Given the description of an element on the screen output the (x, y) to click on. 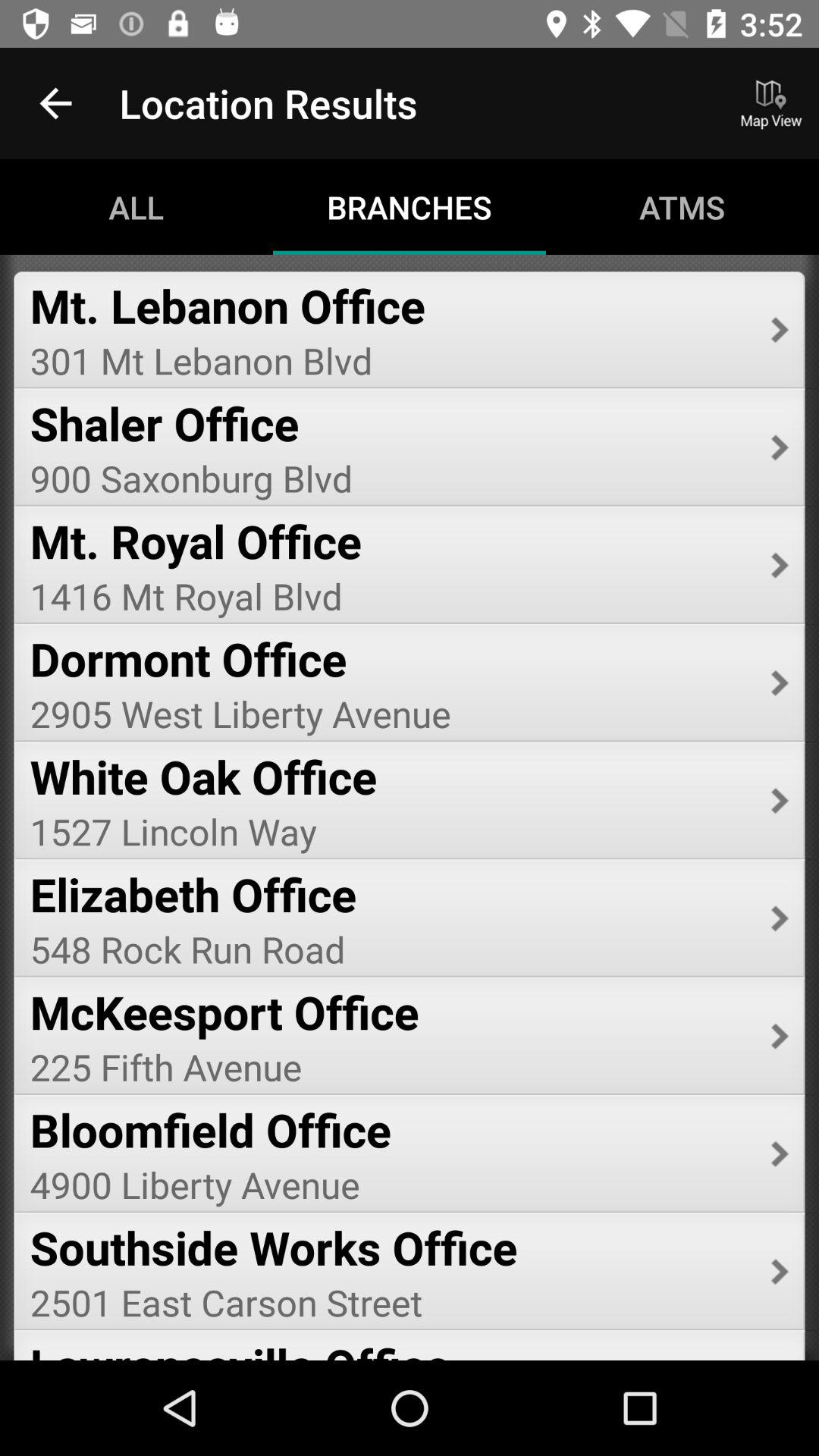
tap the item to the left of the location results (55, 103)
